Given the description of an element on the screen output the (x, y) to click on. 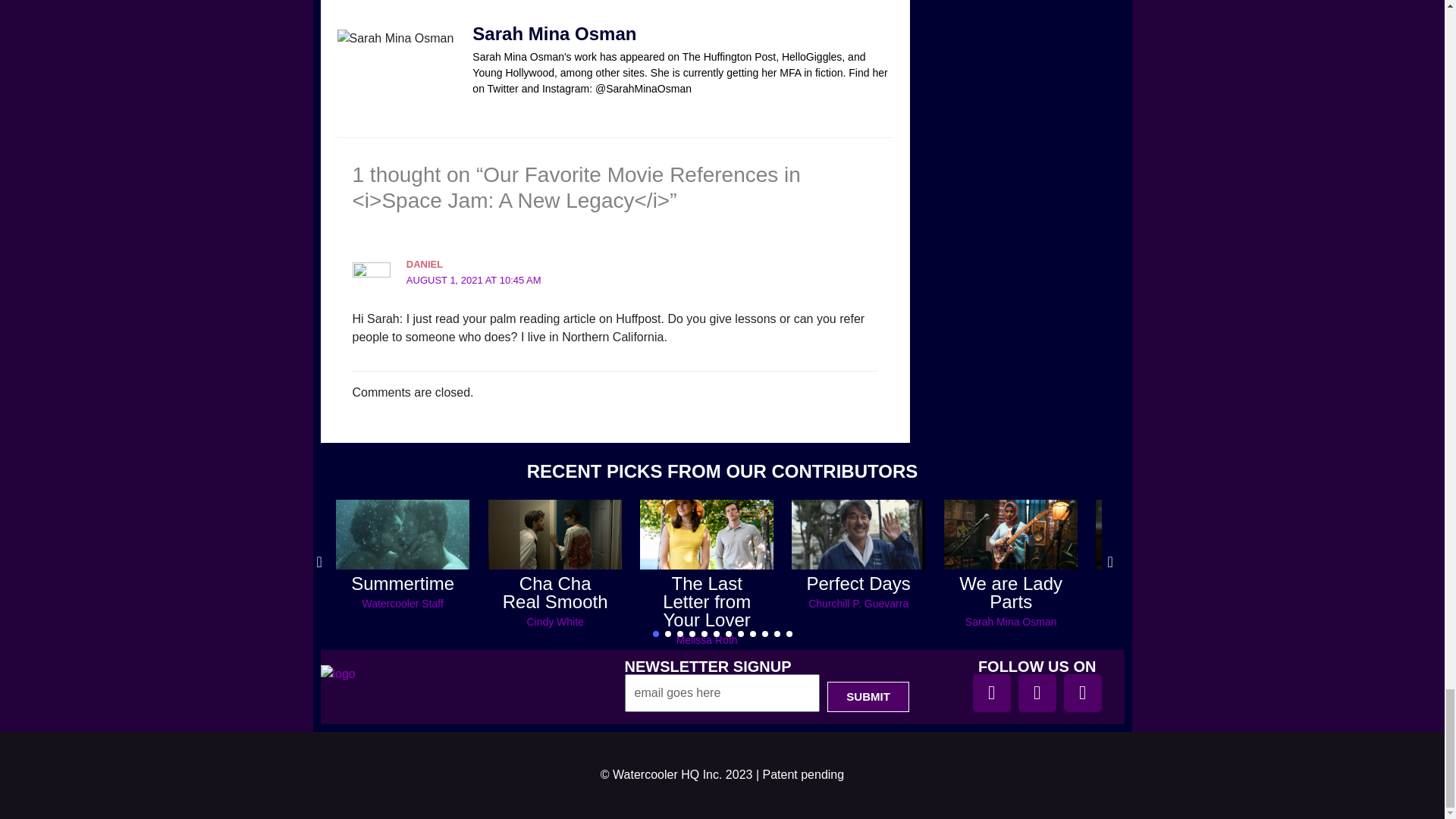
Cha Cha Real Smooth (555, 592)
Summertime (403, 583)
